Given the description of an element on the screen output the (x, y) to click on. 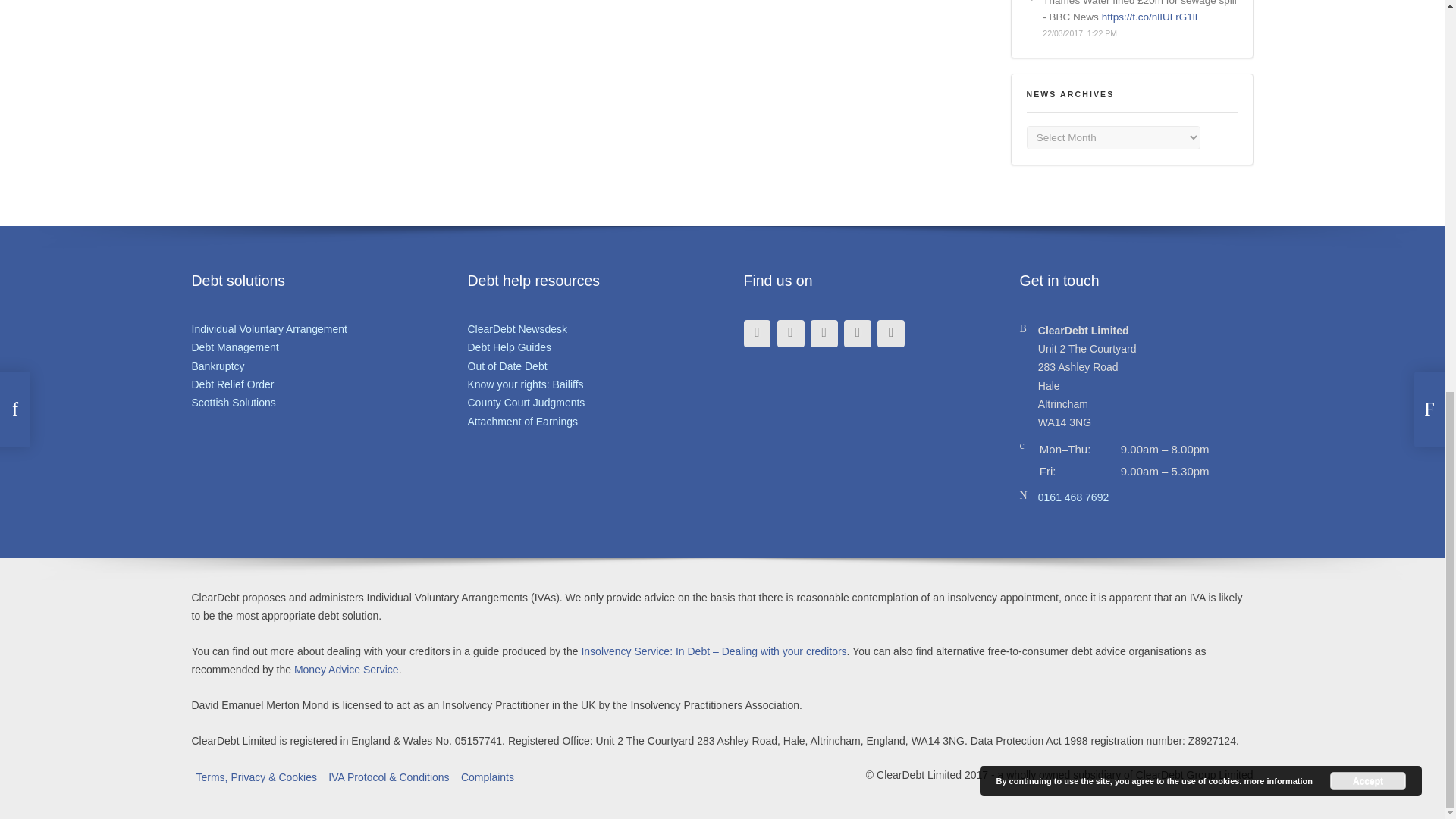
Debt Relief Order (231, 384)
Debt Management (234, 346)
ClearDebt Newsdesk (517, 328)
Individual Voluntary Arrangement (268, 328)
Bankruptcy (217, 366)
Scottish Solutions (232, 402)
